Given the description of an element on the screen output the (x, y) to click on. 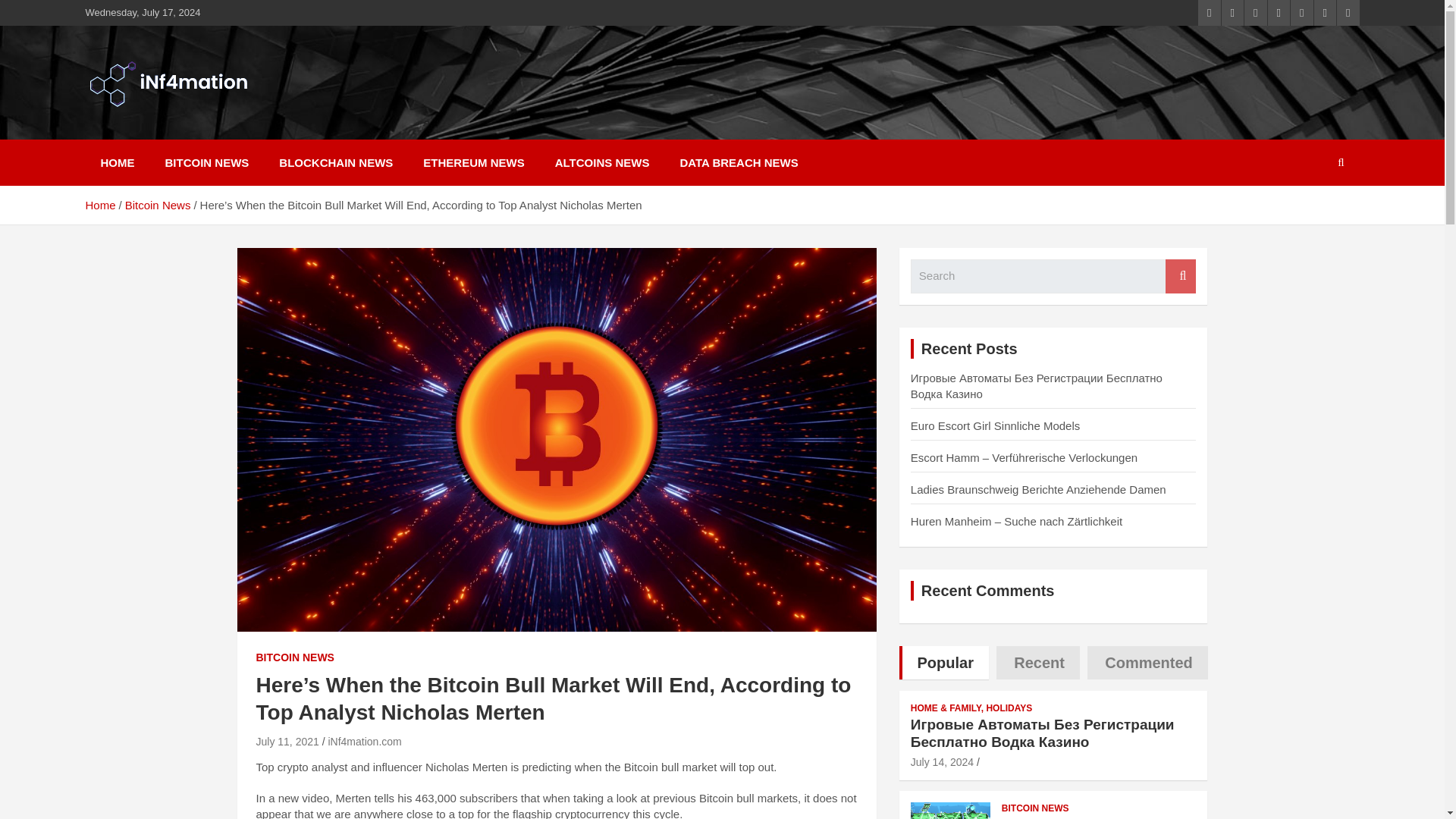
iNf4mation.com (364, 741)
Euro Escort Girl Sinnliche Models (995, 425)
Ladies Braunschweig Berichte Anziehende Damen (1038, 489)
ETHEREUM NEWS (472, 162)
DATA BREACH NEWS (737, 162)
HOME (116, 162)
BITCOIN NEWS (295, 657)
Recent (1037, 662)
Bitcoin News (157, 205)
Search (1180, 276)
Home (99, 205)
Popular (943, 662)
Commented (1147, 662)
July 14, 2024 (942, 761)
BITCOIN NEWS (206, 162)
